Given the description of an element on the screen output the (x, y) to click on. 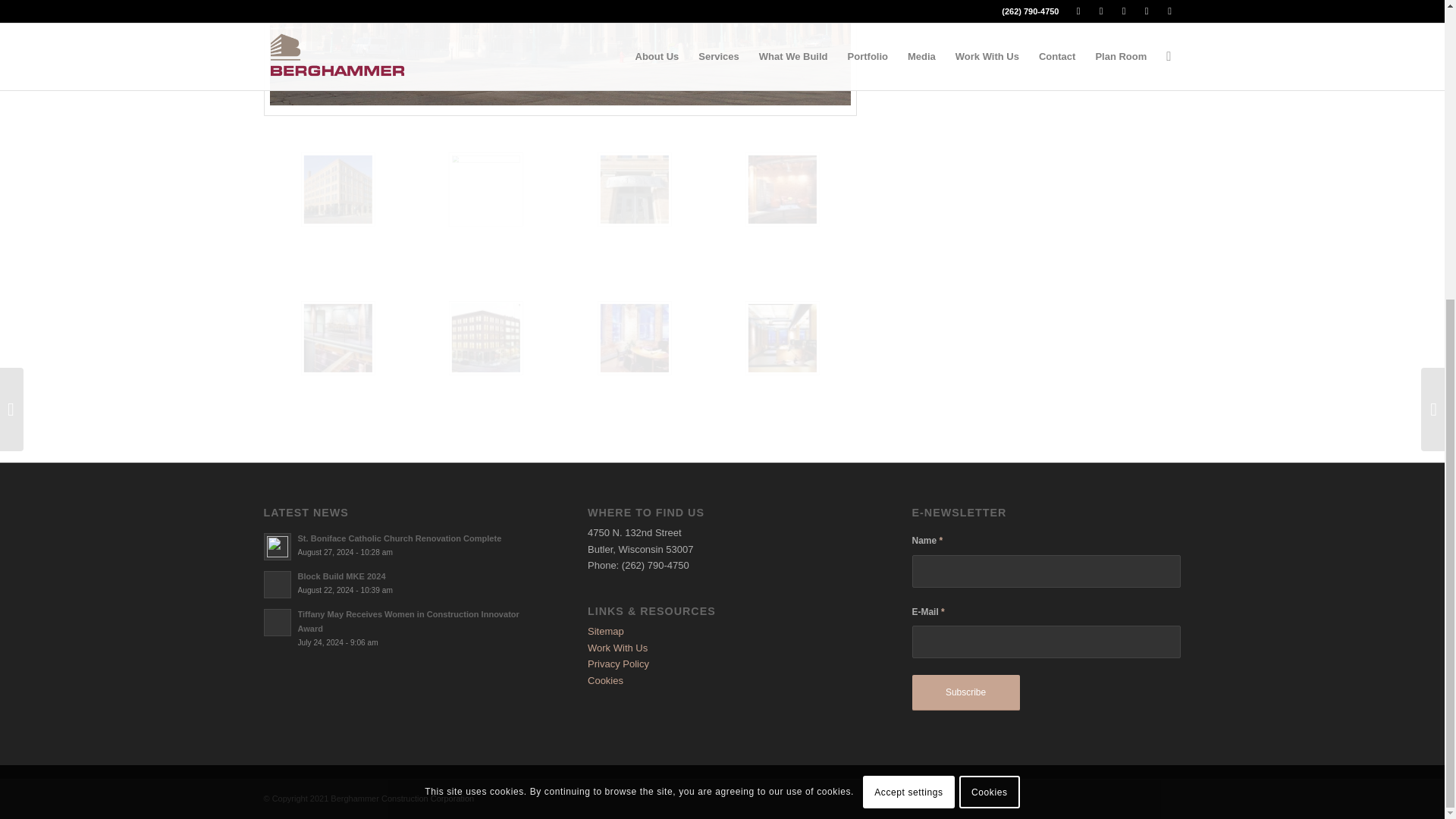
Eppstein Uhen Exterior (560, 58)
Eppstein Uhen Exterior (559, 52)
Eppstein Uhen Reception (486, 189)
Eppstein Uhen Exterior (373, 226)
Eppstein Uhen Reception (522, 226)
Subscribe (966, 692)
Eppstein Uhen Exterior (337, 189)
